Given the description of an element on the screen output the (x, y) to click on. 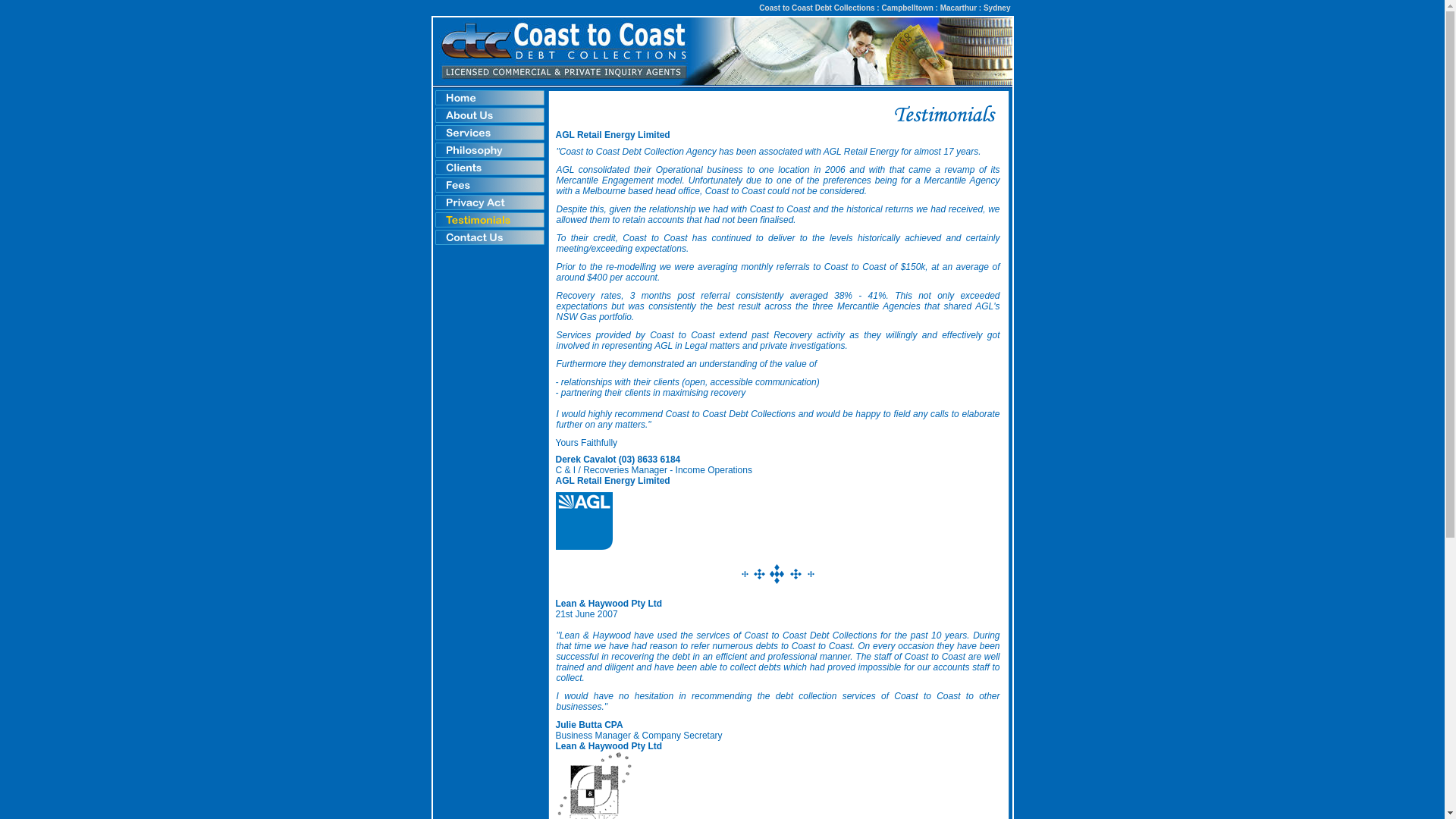
Back to Top Element type: hover (777, 573)
AGL Element type: hover (583, 520)
Philosophy Element type: hover (487, 150)
Fees Element type: hover (487, 185)
Areas Of Work Element type: hover (487, 167)
Privacy Act Element type: hover (487, 202)
Services Element type: hover (487, 132)
Debt Collection Agency Element type: hover (891, 114)
About Us Element type: hover (487, 114)
Debt Collection Agency Element type: hover (663, 97)
Debt Collector Element type: hover (583, 489)
Testimonials Element type: hover (487, 220)
Coast to Coast Debt Collections Element type: hover (721, 54)
Coast to Coast Debt Collections Element type: hover (487, 98)
Debt Collector Element type: hover (583, 451)
Contact Us Element type: hover (487, 237)
Debt Collection Agency Element type: hover (663, 143)
